Given the description of an element on the screen output the (x, y) to click on. 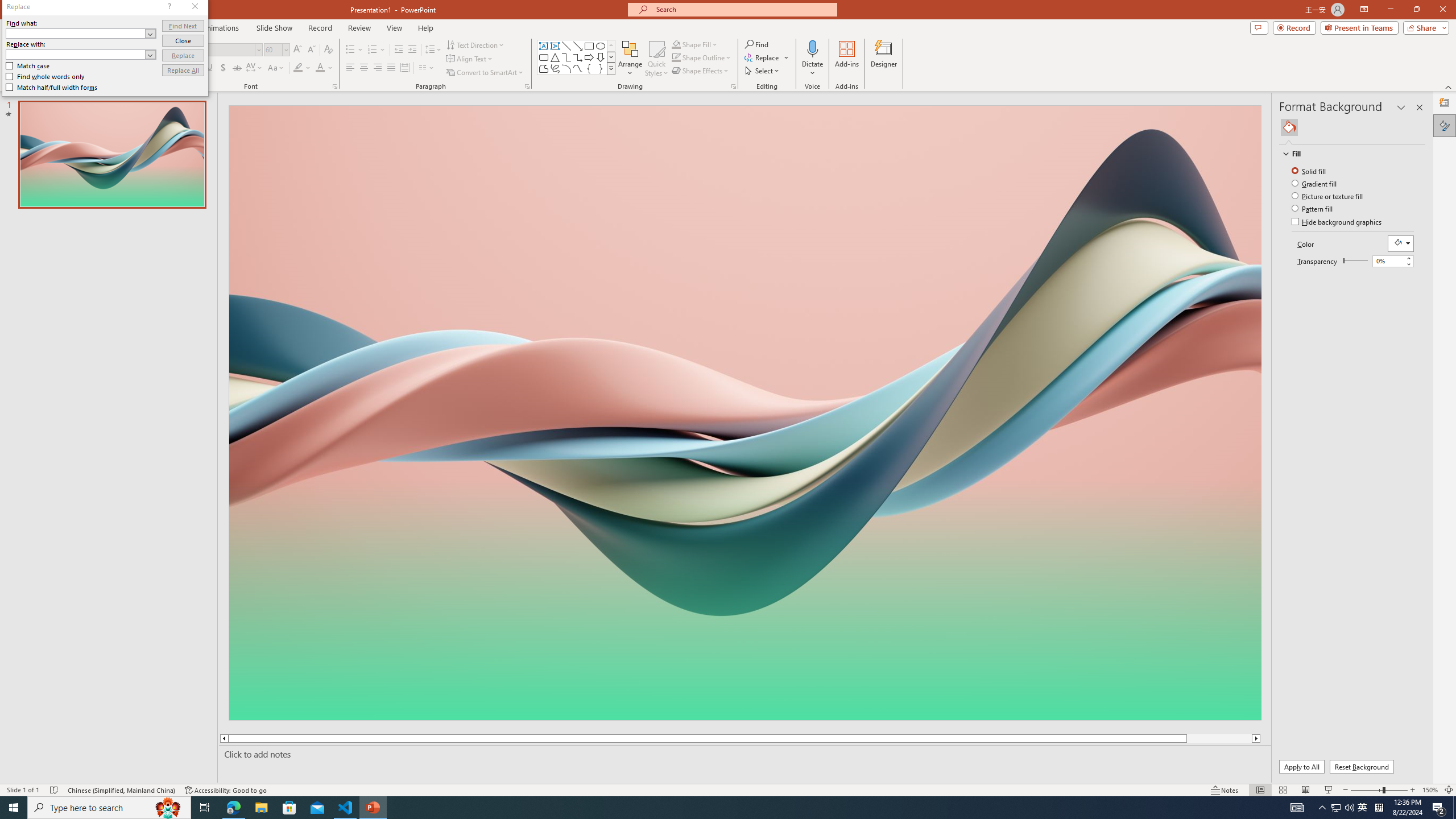
Replace with (75, 53)
Fill (1347, 153)
Class: NetUIGalleryContainer (1352, 126)
